Given the description of an element on the screen output the (x, y) to click on. 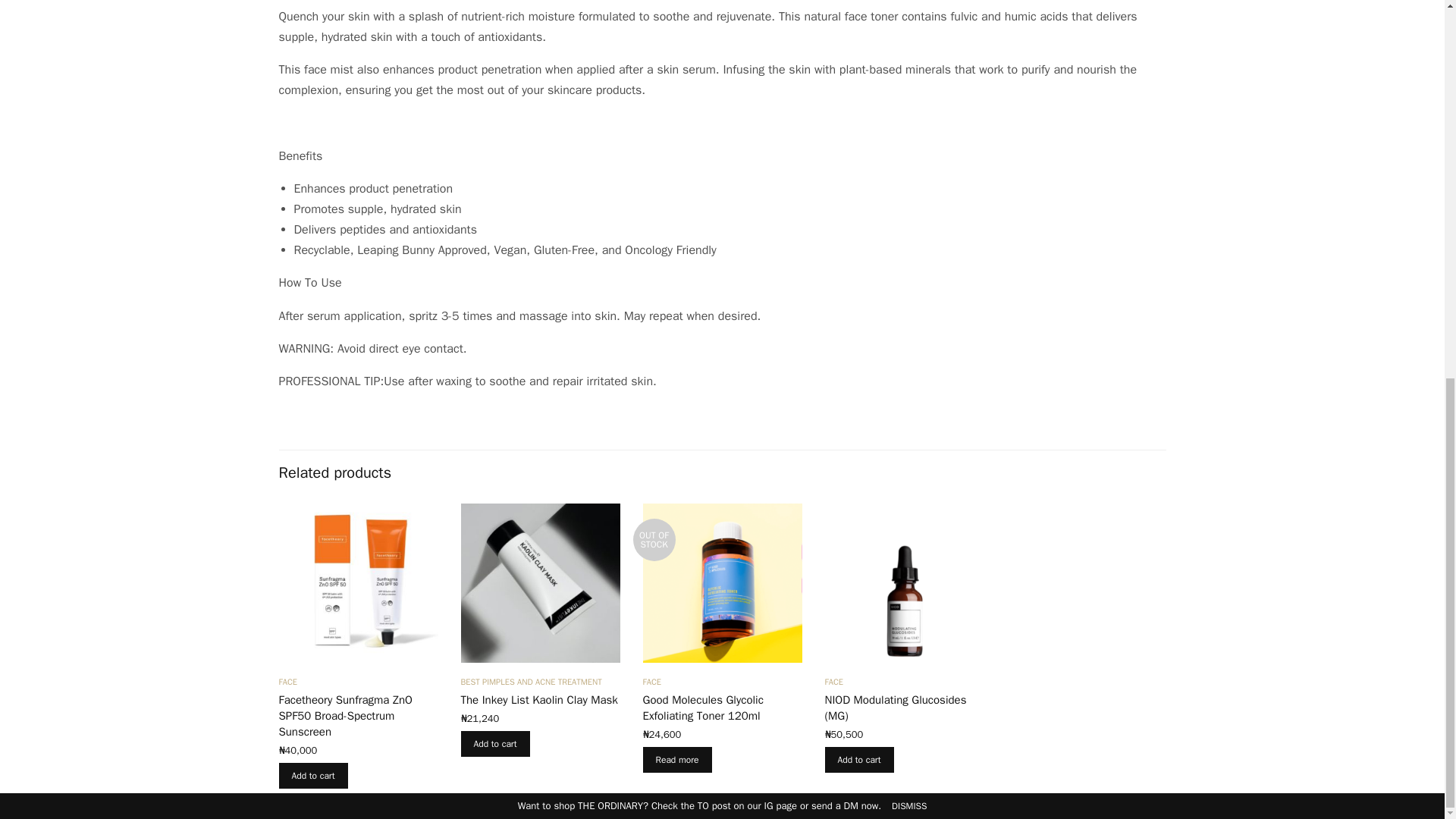
The Inkey List Kaolin Clay Mask (540, 582)
The Inkey List Kaolin Clay Mask (539, 699)
Facetheory Sunfragma ZnO SPF50 Broad-Spectrum Sunscreen (358, 582)
Good Molecules Glycolic Exfoliating Toner 120ml (722, 582)
Good Molecules Glycolic Exfoliating Toner 120ml (702, 707)
Facetheory Sunfragma ZnO SPF50 Broad-Spectrum Sunscreen (345, 715)
